Given the description of an element on the screen output the (x, y) to click on. 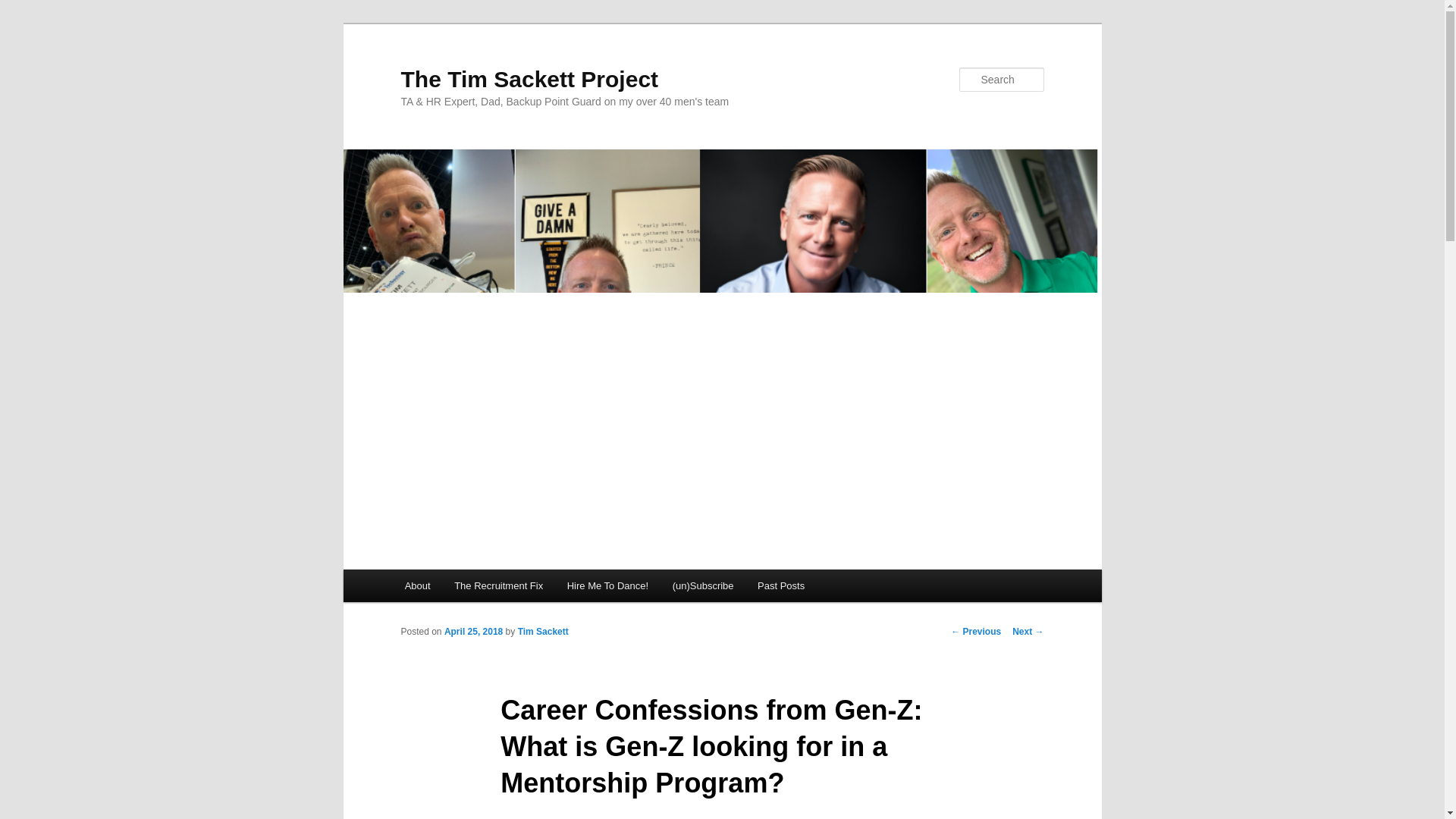
April 25, 2018 (473, 631)
Past Posts (780, 585)
Tim Sackett (543, 631)
Hire Me To Dance! (607, 585)
The Recruitment Fix (498, 585)
Search (24, 8)
The Tim Sackett Project (529, 78)
View all posts by Tim Sackett (543, 631)
About (417, 585)
